Given the description of an element on the screen output the (x, y) to click on. 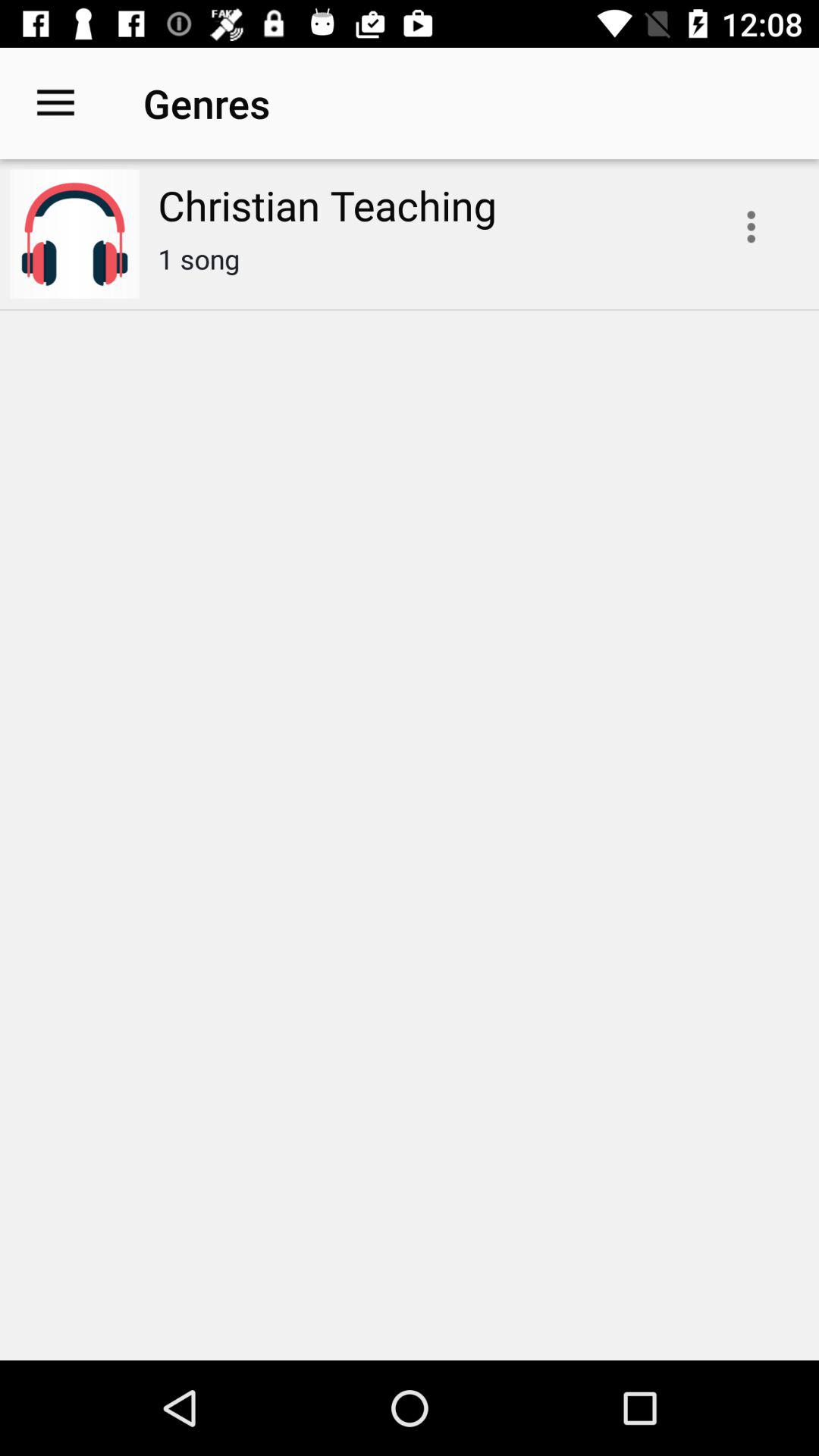
choose icon next to christian teaching icon (55, 103)
